Given the description of an element on the screen output the (x, y) to click on. 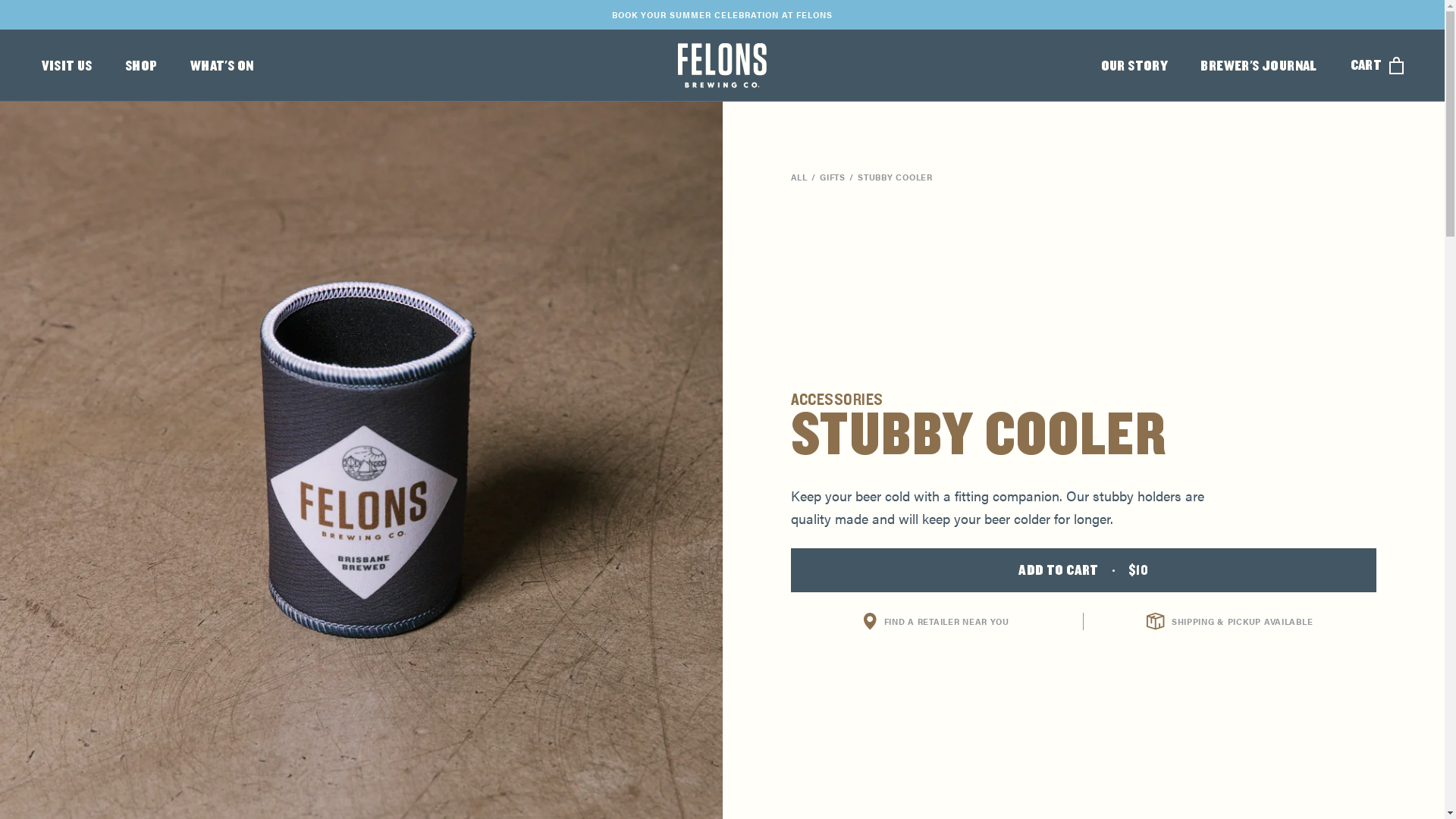
STUBBY COOLER Element type: text (894, 176)
WHAT'S ON
WHAT'S ON Element type: text (222, 65)
ALL Element type: text (798, 176)
ACCESSORIES Element type: text (836, 399)
ADD TO CART
$10 Element type: text (1083, 570)
CART Element type: text (1376, 65)
SHIPPING & PICKUP AVAILABLE Element type: text (1229, 620)
FIND A RETAILER NEAR YOU Element type: text (936, 620)
SHOP
SHOP Element type: text (141, 65)
GIFTS Element type: text (832, 176)
VISIT US
VISIT US Element type: text (66, 65)
BOOK YOUR SUMMER CELEBRATION AT FELONS Element type: text (721, 14)
OUR STORY
OUR STORY Element type: text (1134, 65)
BREWER'S JOURNAL
BREWER'S JOURNAL Element type: text (1258, 65)
